Given the description of an element on the screen output the (x, y) to click on. 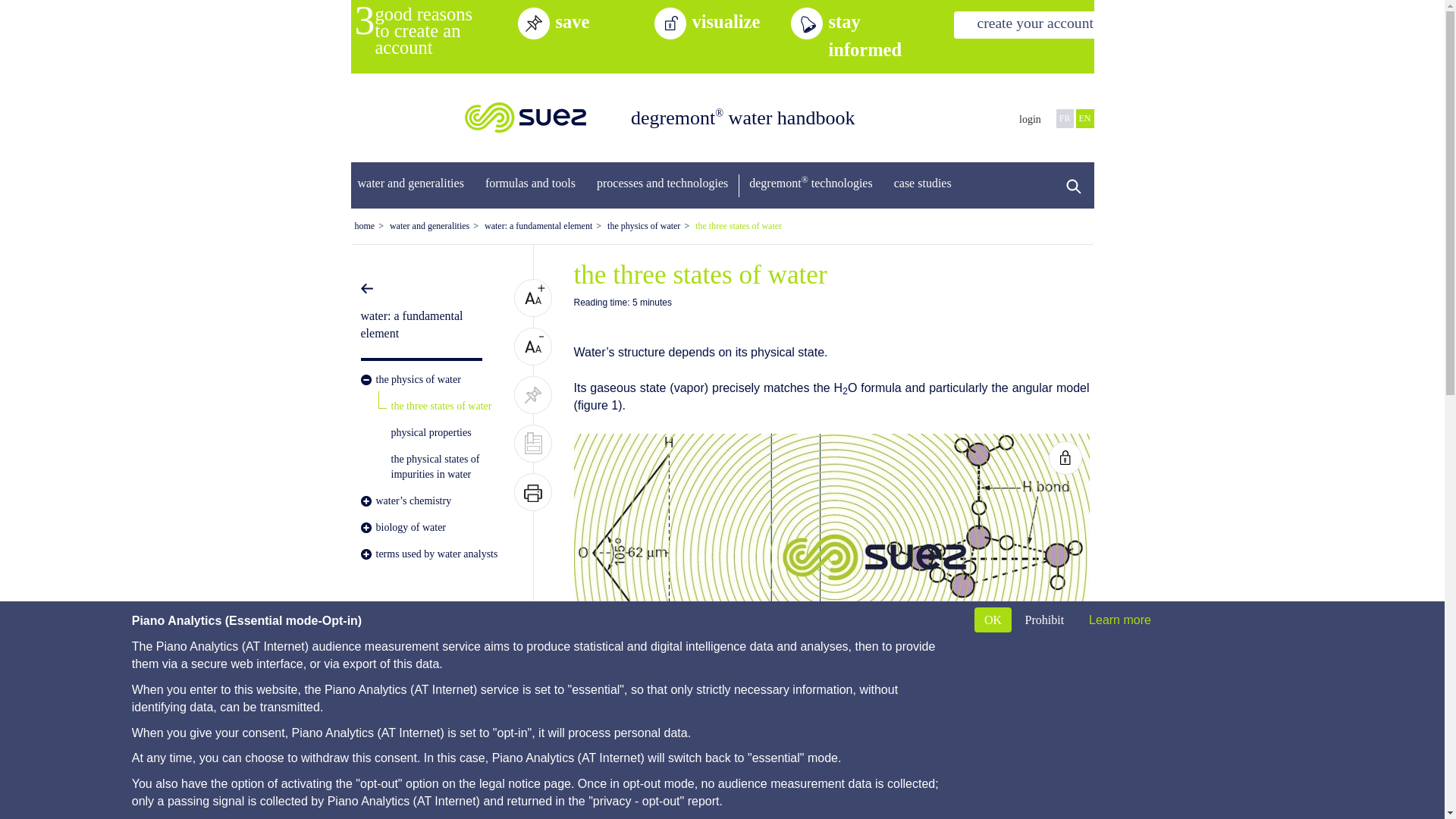
stay informed (877, 35)
stay informed on topics that interest you (877, 35)
visualize images without watermarks (740, 21)
create your account (1034, 24)
Passer en FR (1065, 117)
create your account for free (1034, 24)
login (1030, 119)
visualize (740, 21)
FR (1065, 117)
save your favorite content (603, 21)
save (603, 21)
